Given the description of an element on the screen output the (x, y) to click on. 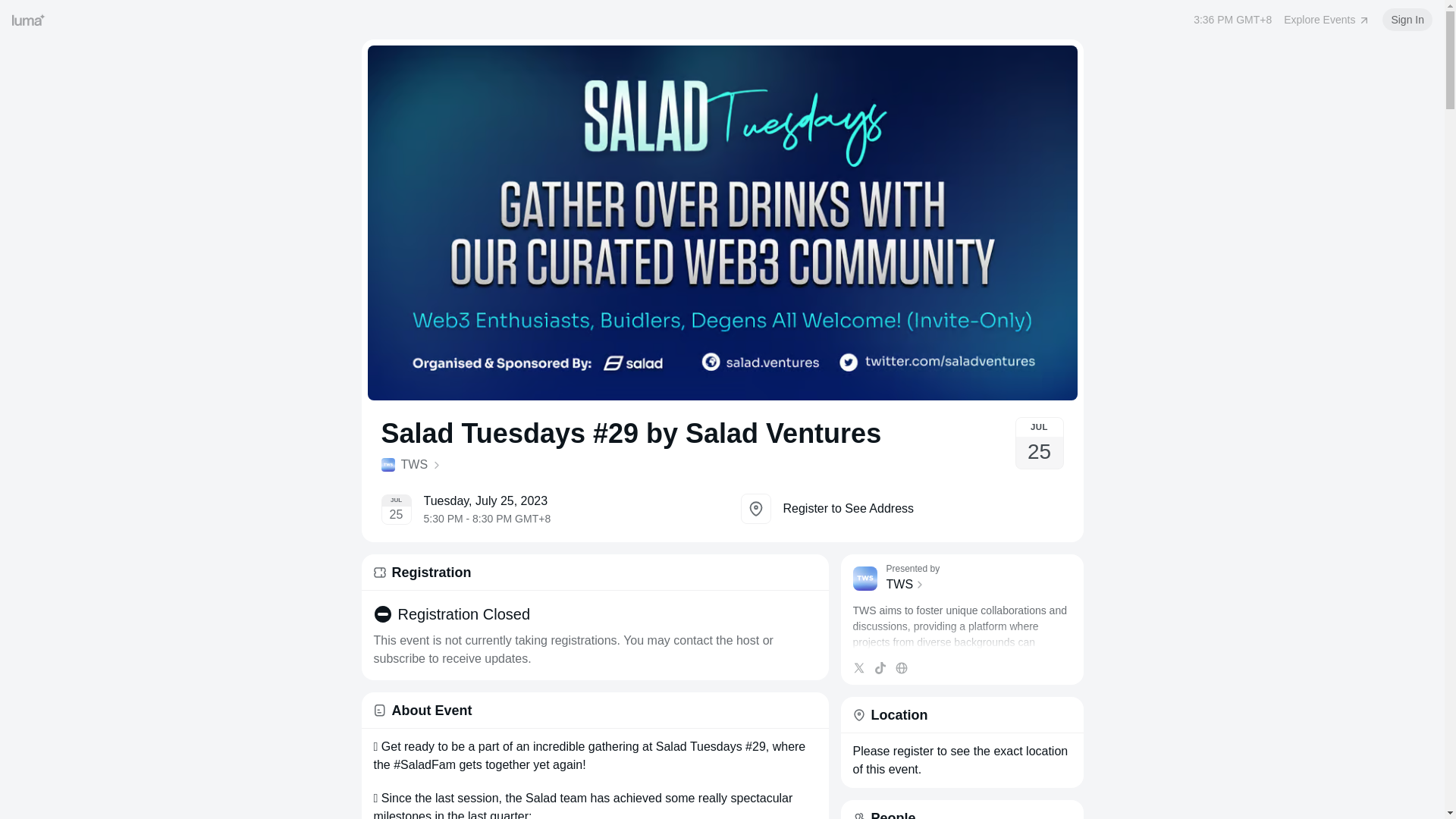
Explore Events (1327, 19)
TWS (630, 464)
TWS (977, 584)
Sign In (1406, 19)
